Given the description of an element on the screen output the (x, y) to click on. 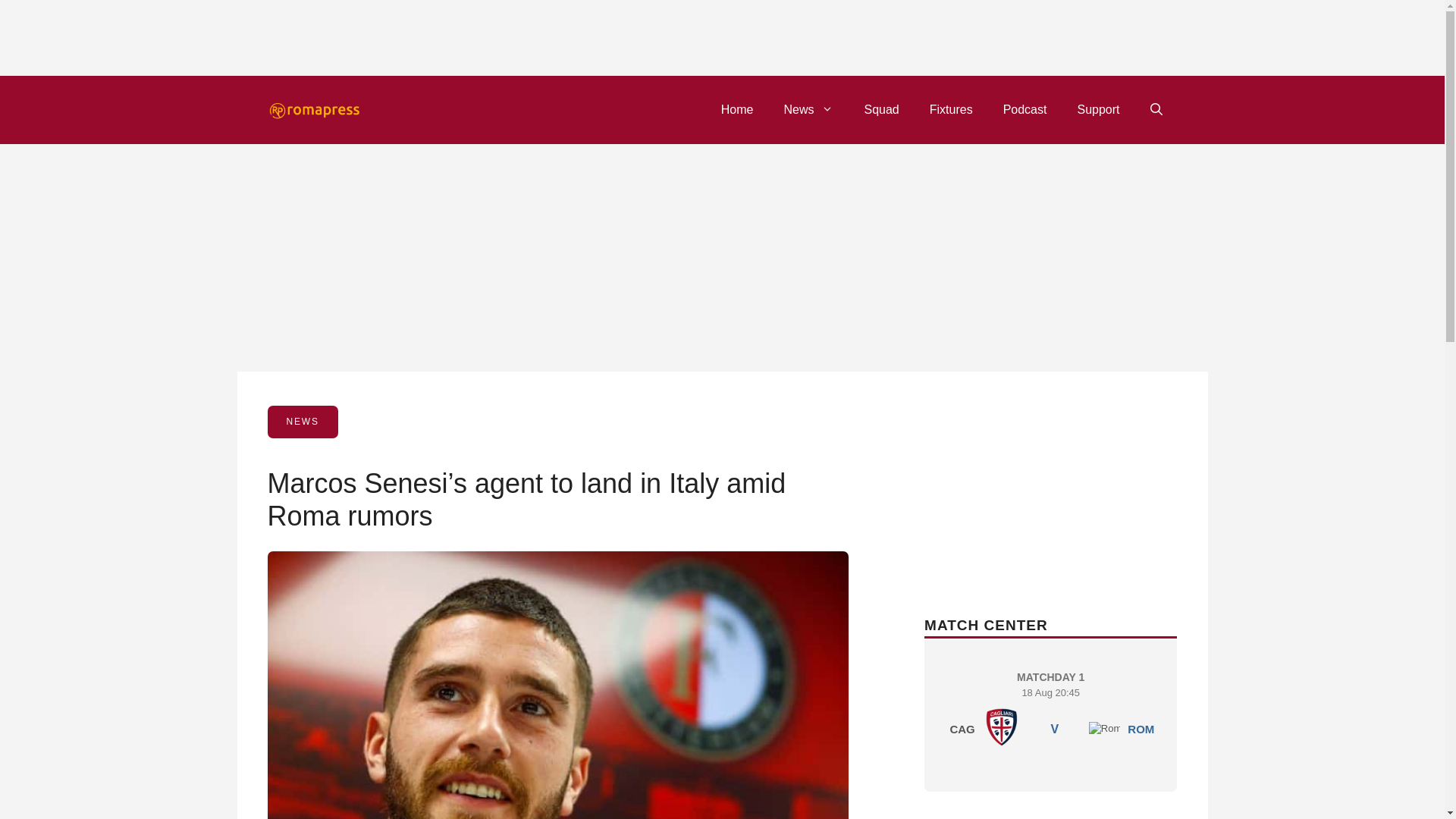
Cagliari (1001, 727)
Home (737, 109)
Support (1097, 109)
Podcast (1025, 109)
ROM (1140, 728)
Squad (881, 109)
News (808, 109)
Roma (1105, 728)
Fixtures (1050, 710)
